Given the description of an element on the screen output the (x, y) to click on. 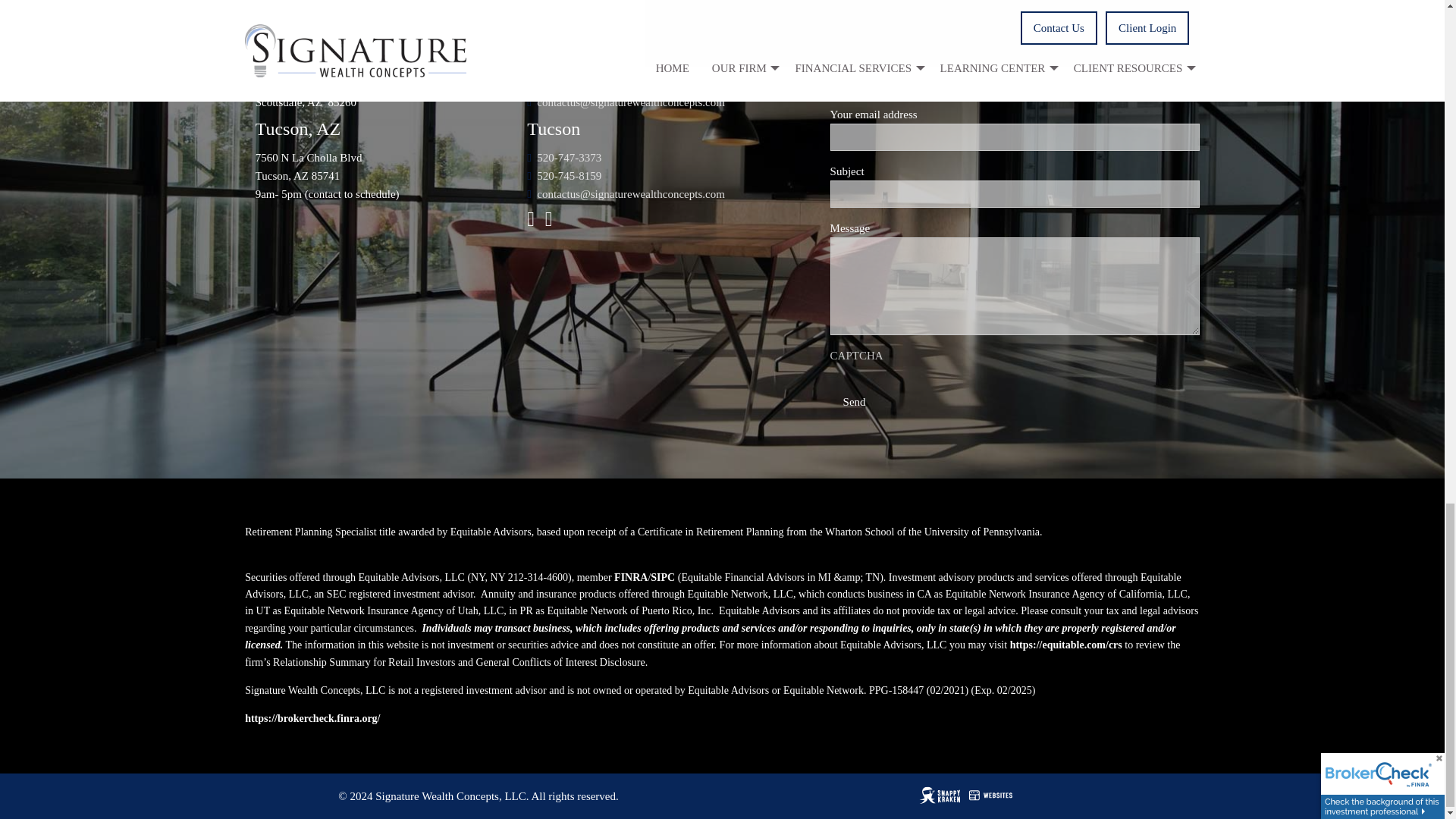
520-745-8159 (569, 175)
480-444-3780 (569, 65)
Send (854, 401)
480-922-5203 (569, 83)
520-747-3373 (569, 157)
